Given the description of an element on the screen output the (x, y) to click on. 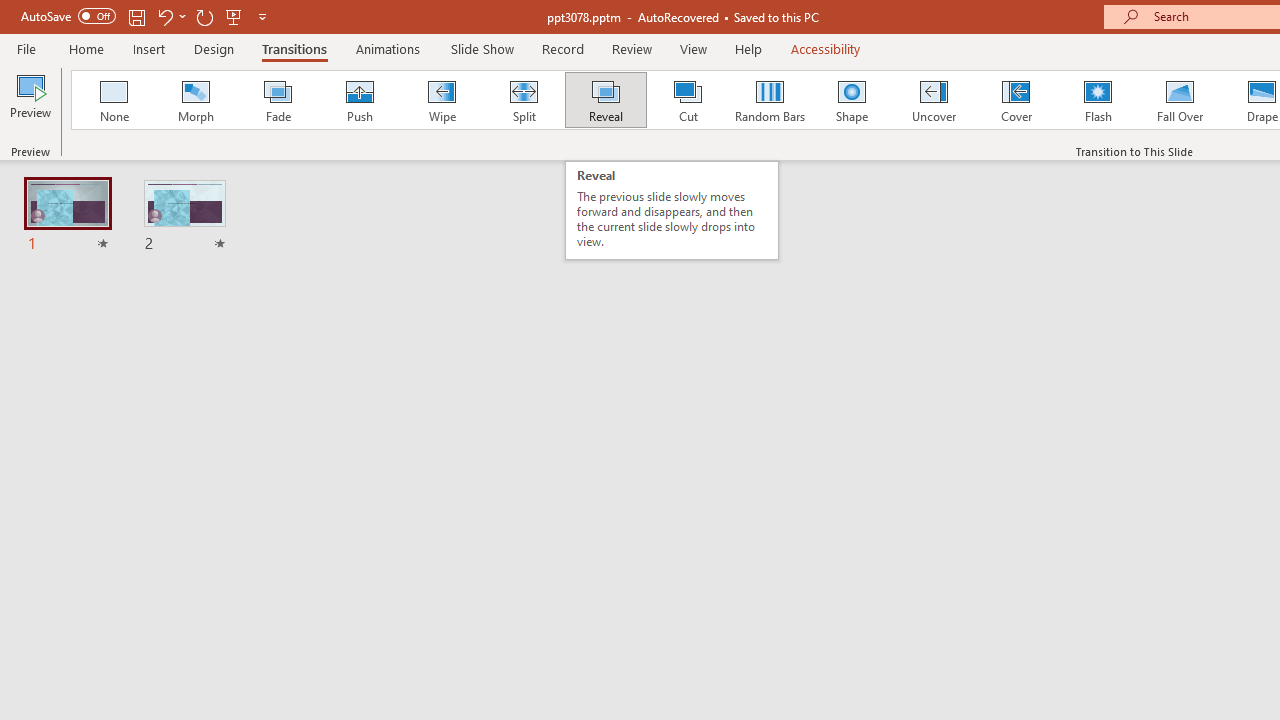
Wipe (441, 100)
Random Bars (770, 100)
Shape (852, 100)
Cover (1016, 100)
Fade (277, 100)
Split (523, 100)
